Given the description of an element on the screen output the (x, y) to click on. 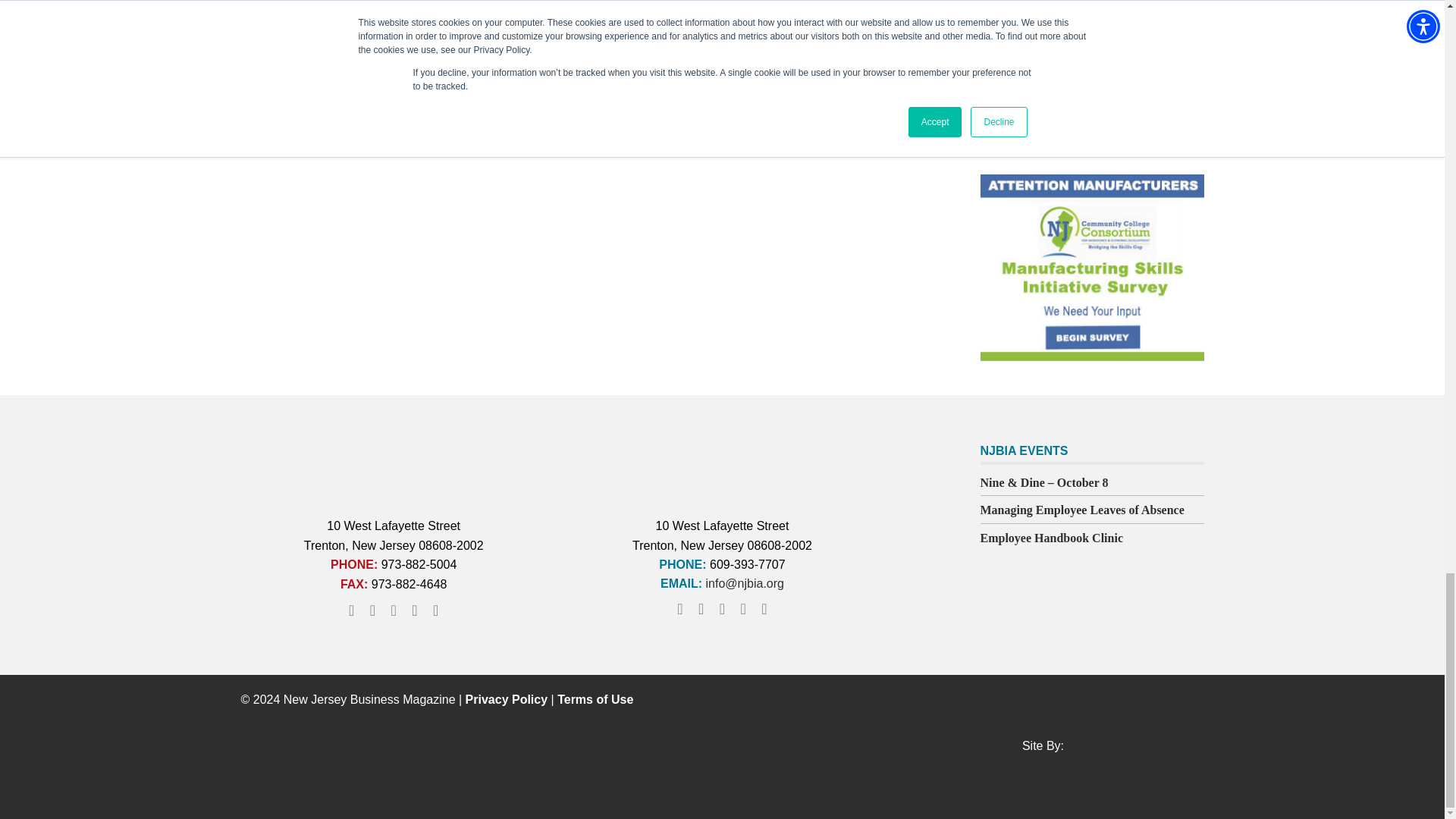
Subscribe (1050, 101)
